Given the description of an element on the screen output the (x, y) to click on. 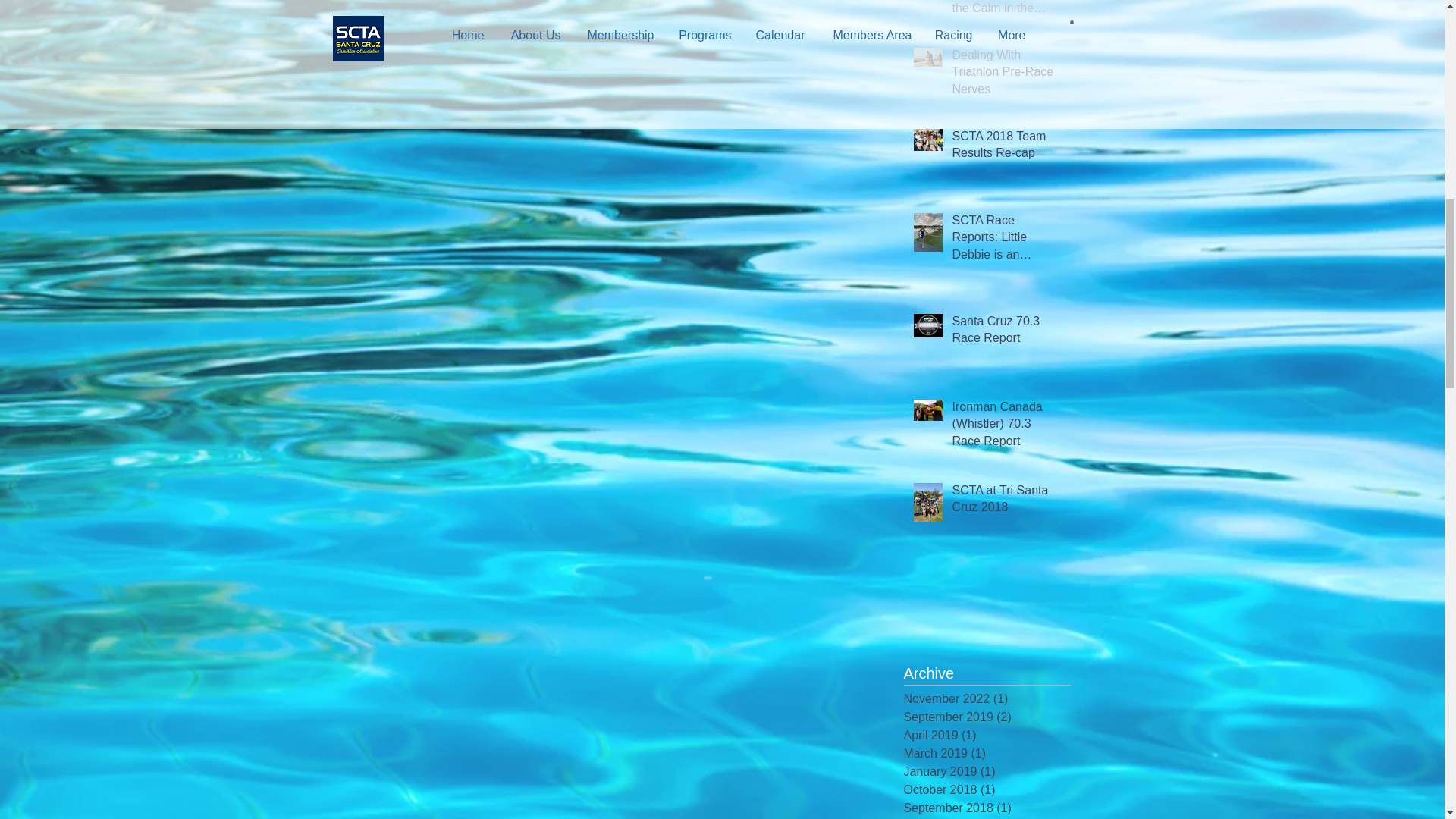
Dealing With Triathlon Pre-Race Nerves (1006, 75)
Santa Cruz 70.3 Race Report (1006, 332)
SCTA at Tri Santa Cruz 2018 (1006, 502)
SCTA Race Reports: Little Debbie is an IRONMAN! (1006, 240)
SCTA 2018 Team Results Re-cap (1006, 147)
